Given the description of an element on the screen output the (x, y) to click on. 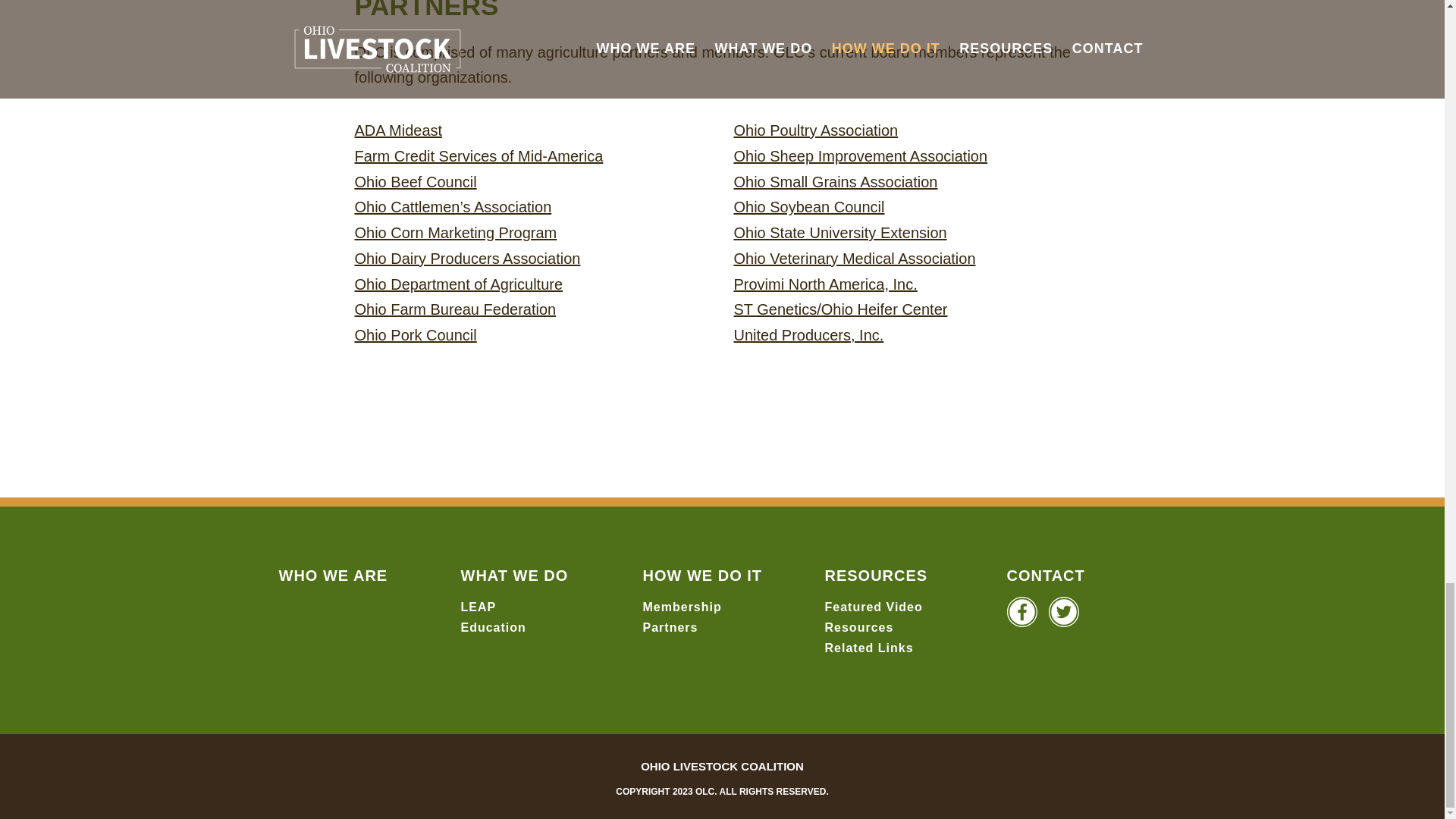
Ohio Department of Agriculture (457, 284)
LEAP (478, 606)
Ohio Small Grains Association (835, 181)
Ohio Farm Bureau Federation (454, 309)
HOW WE DO IT (702, 575)
Provimi North America, Inc. (825, 284)
WHAT WE DO (515, 575)
Ohio Veterinary Medical Association (854, 258)
ADA Mideast (397, 130)
Membership (682, 606)
WHO WE ARE (333, 575)
Ohio State University Extension (839, 232)
Ohio Beef Council (414, 181)
RESOURCES (876, 575)
Ohio Poultry Association (815, 130)
